Given the description of an element on the screen output the (x, y) to click on. 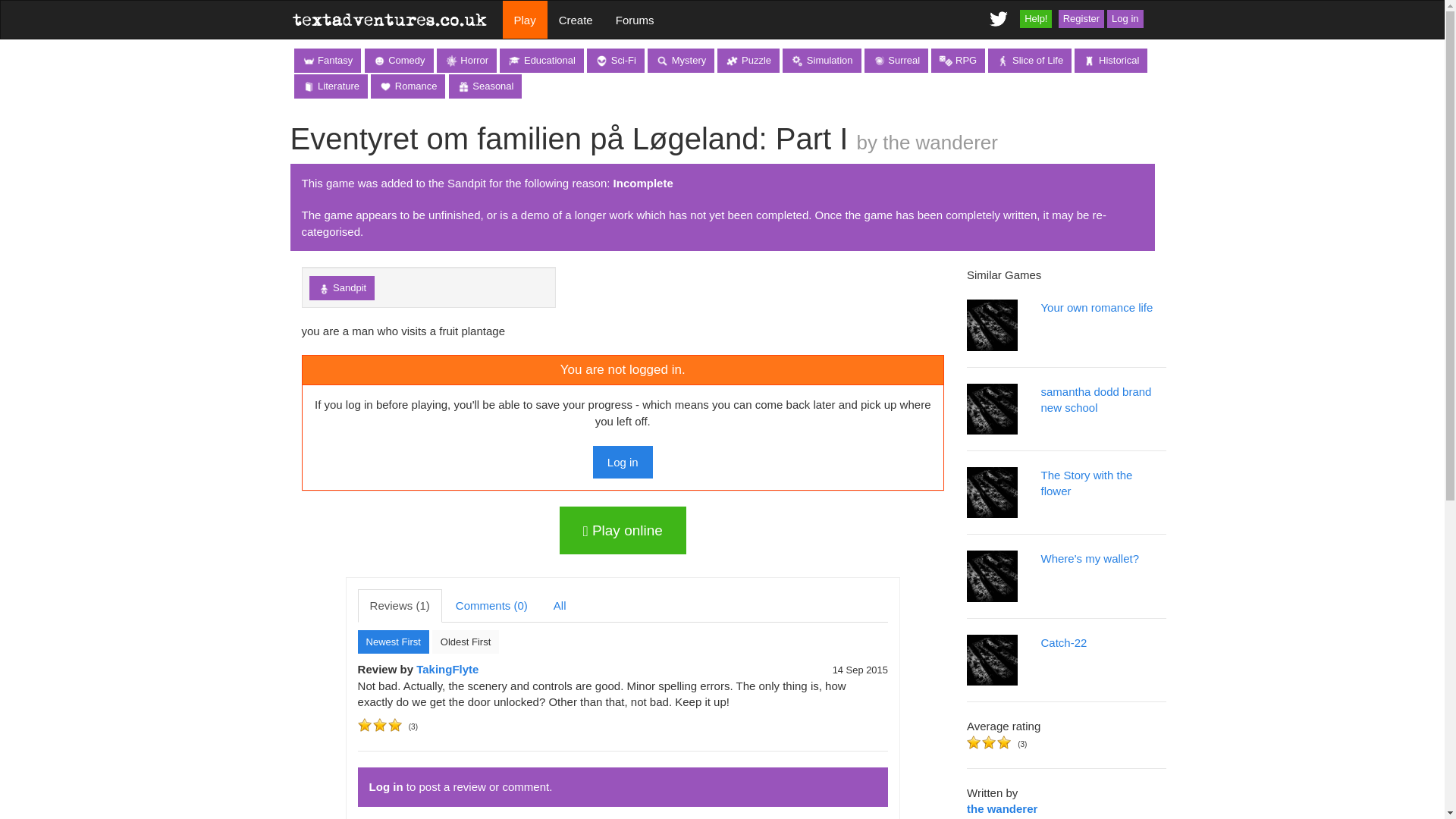
Where's my wallet? (1066, 584)
Log in (622, 461)
Romance (408, 86)
Play (524, 19)
Oldest First (465, 641)
samantha dodd brand new school (1066, 417)
Register (1080, 18)
Newest First (393, 641)
Comedy (399, 60)
Your own romance life (1066, 332)
TakingFlyte (447, 668)
Surreal (896, 60)
Catch-22 (1066, 683)
Create (575, 19)
RPG (958, 60)
